Given the description of an element on the screen output the (x, y) to click on. 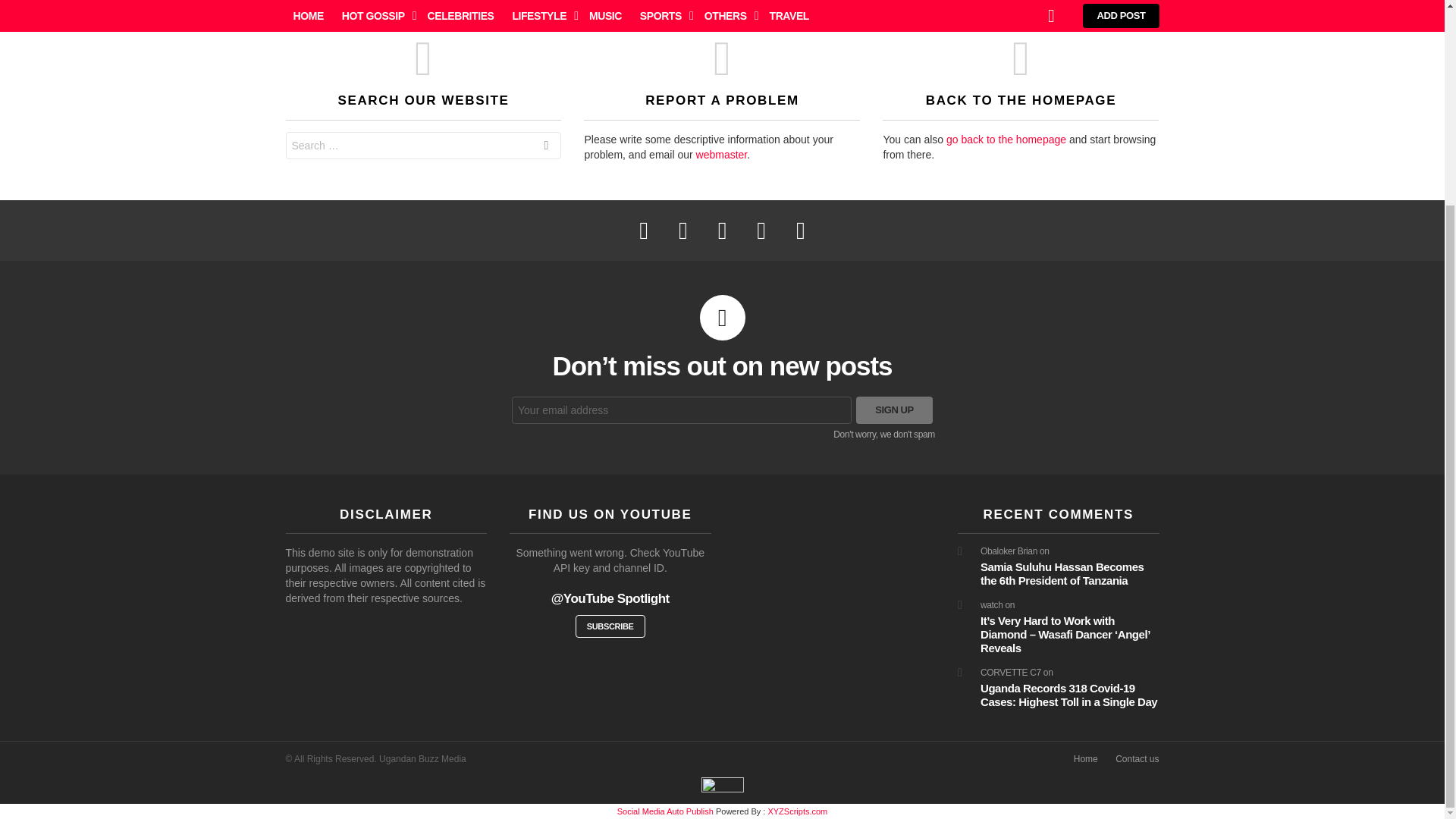
Search for: (422, 144)
Sign up (894, 410)
